Given the description of an element on the screen output the (x, y) to click on. 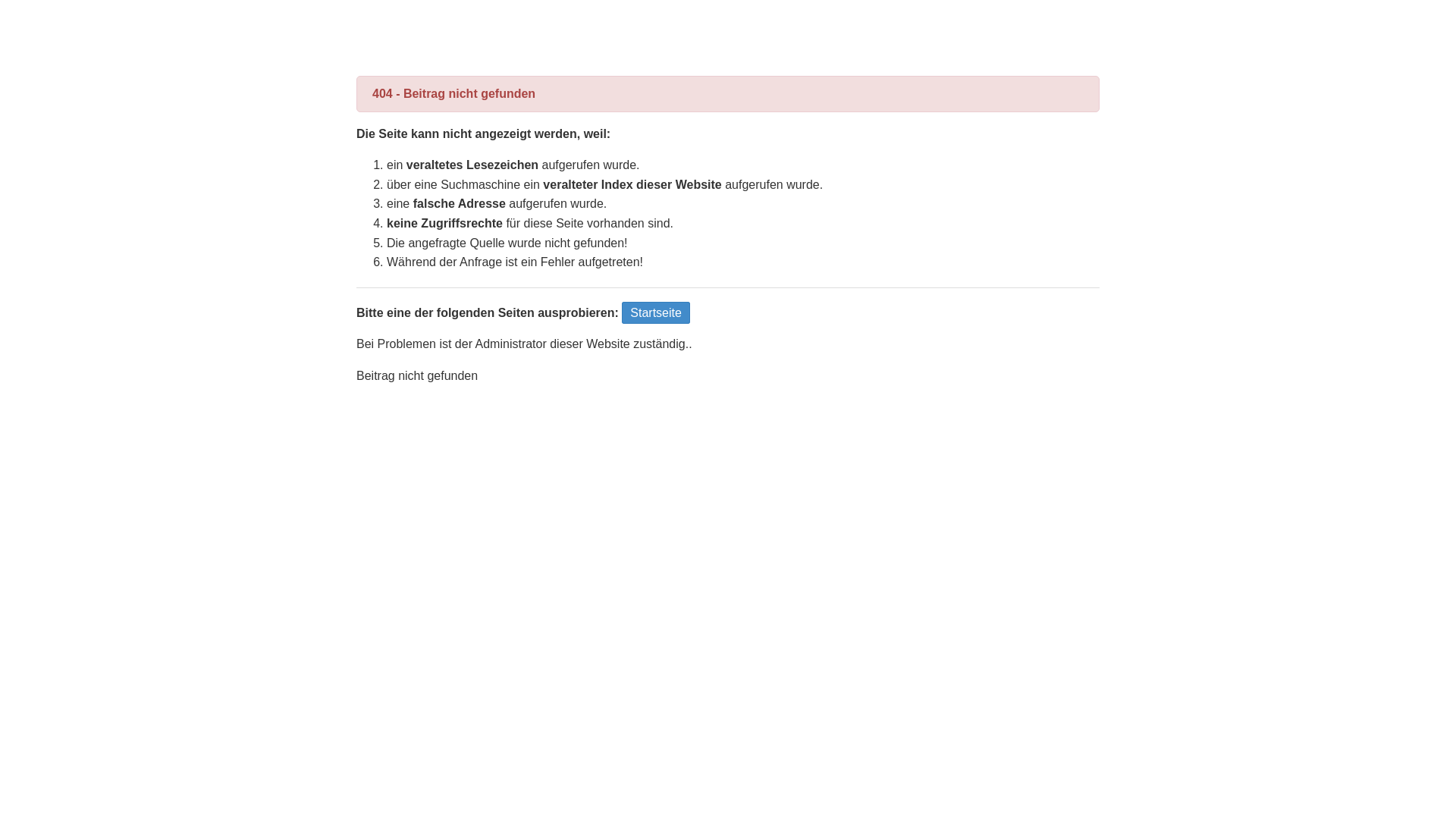
Startseite Element type: text (655, 312)
